Given the description of an element on the screen output the (x, y) to click on. 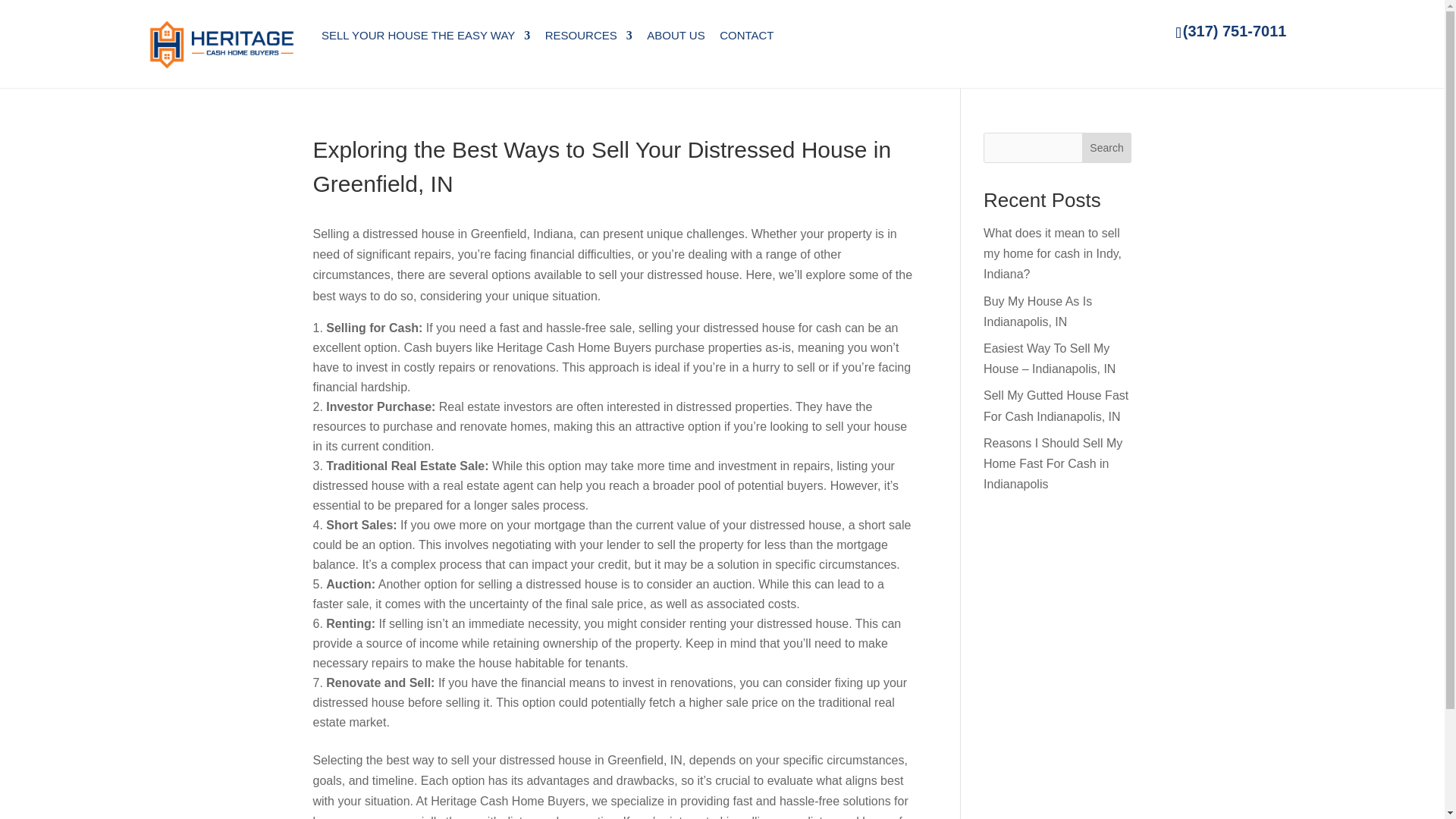
SELL YOUR HOUSE THE EASY WAY (425, 35)
CONTACT (746, 35)
Search (1106, 147)
Buy My House As Is Indianapolis, IN (1038, 311)
ABOUT US (675, 35)
RESOURCES (587, 35)
Sell My Gutted House Fast For Cash Indianapolis, IN (1056, 405)
What does it mean to sell my home for cash in Indy, Indiana? (1052, 253)
Reasons I Should Sell My Home Fast For Cash in Indianapolis (1053, 463)
